Given the description of an element on the screen output the (x, y) to click on. 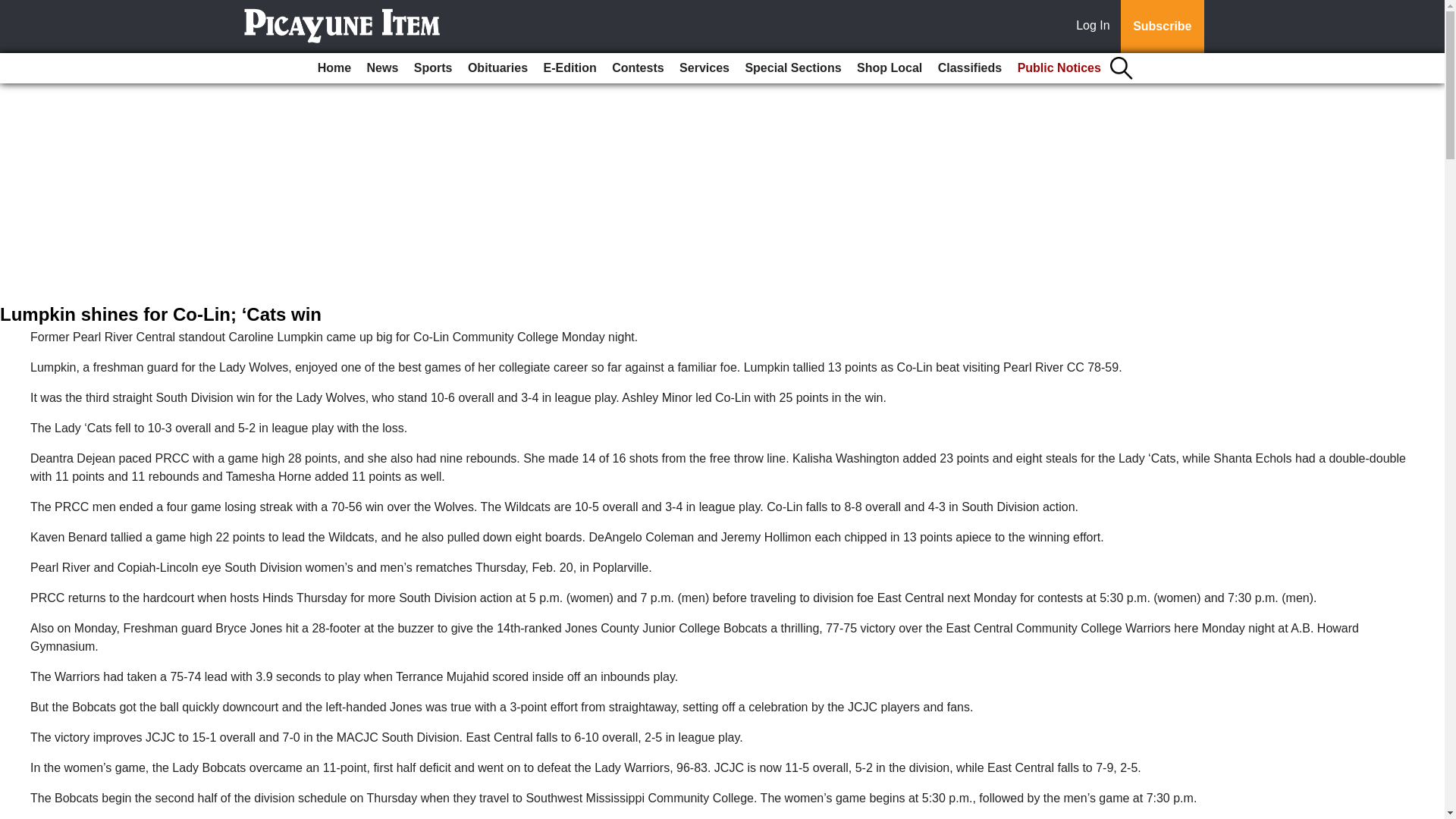
Obituaries (497, 68)
E-Edition (569, 68)
Subscribe (1162, 26)
Go (13, 9)
Contests (637, 68)
Log In (1095, 26)
Services (703, 68)
Sports (432, 68)
News (382, 68)
Classifieds (969, 68)
Shop Local (889, 68)
Public Notices (1058, 68)
Home (333, 68)
Special Sections (792, 68)
